Given the description of an element on the screen output the (x, y) to click on. 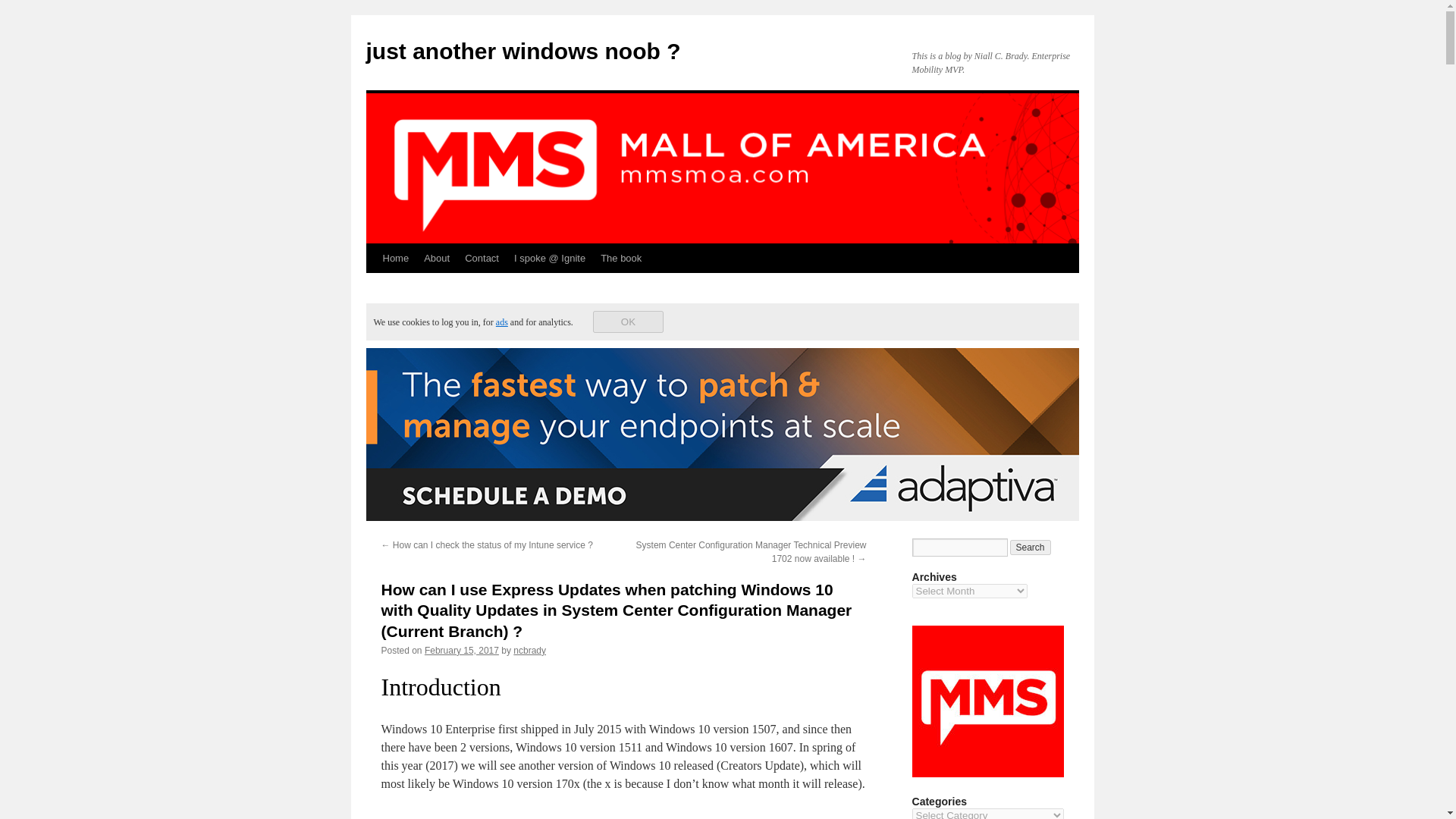
Contact (481, 258)
OK (627, 321)
ncbrady (529, 650)
February 15, 2017 (462, 650)
The book (620, 258)
About (436, 258)
just another windows noob ? (522, 50)
ads (502, 321)
just another windows noob ? (522, 50)
Search (1030, 547)
Home (395, 258)
10:22 pm (462, 650)
View all posts by ncbrady (529, 650)
